Given the description of an element on the screen output the (x, y) to click on. 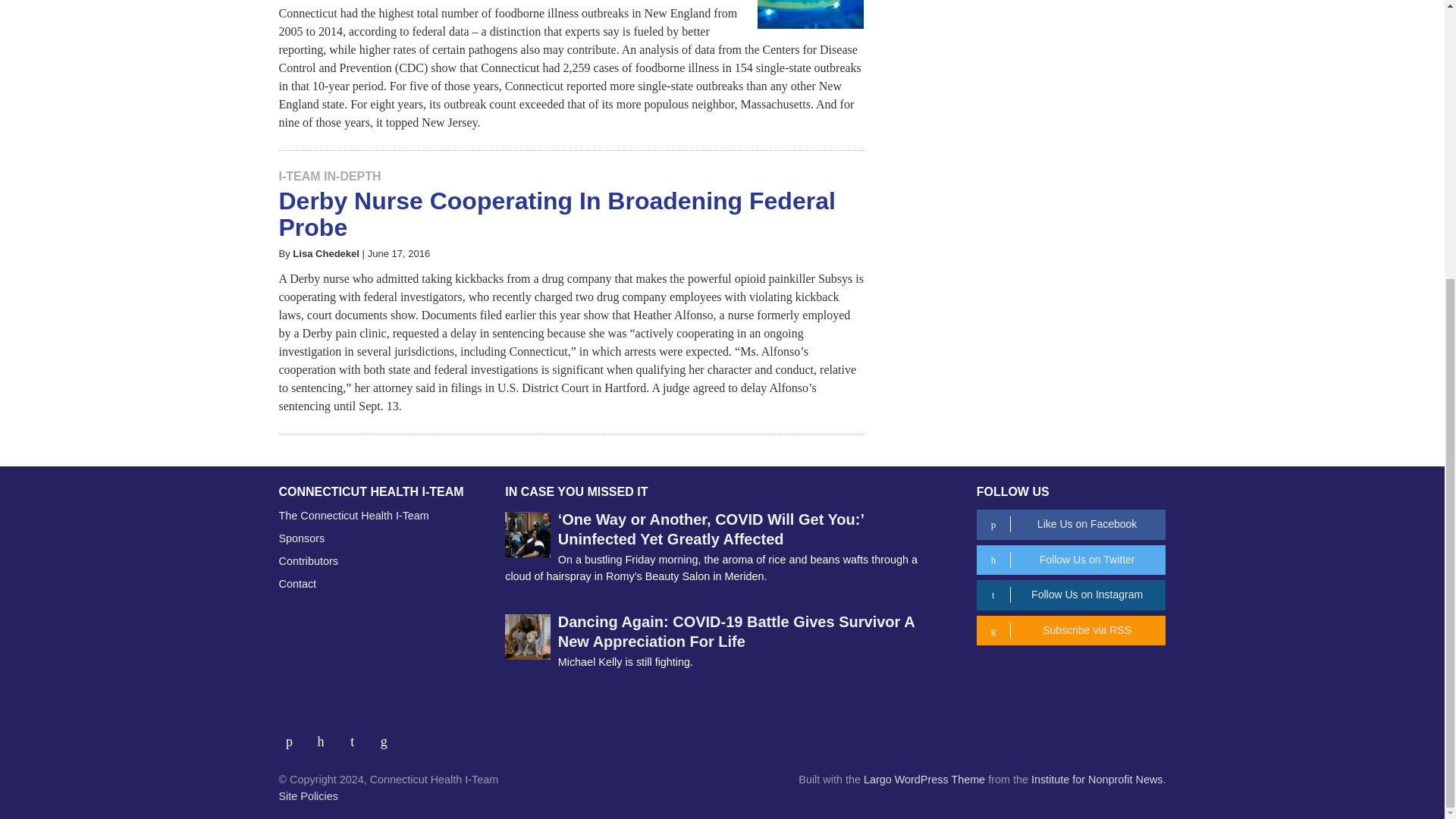
Link to RSS Feed (384, 735)
Link to Facebook Profile (295, 735)
More from Lisa Chedekel (325, 253)
Link to Twitter Page (326, 735)
Read Stories in the I-Team In-Depth category (330, 175)
Link to Instagram Page (358, 735)
